Given the description of an element on the screen output the (x, y) to click on. 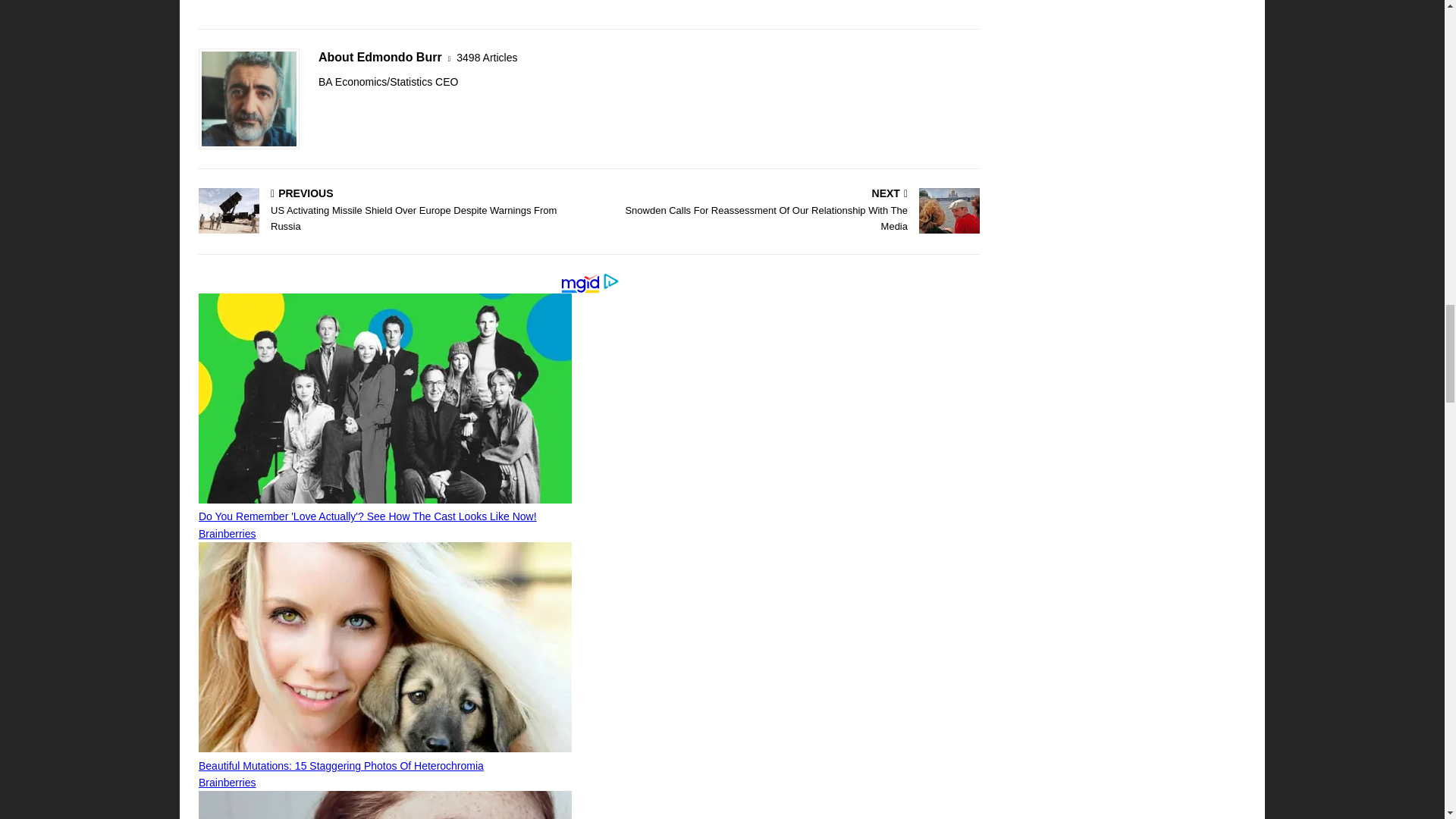
More articles written by Edmondo Burr' (486, 57)
